Given the description of an element on the screen output the (x, y) to click on. 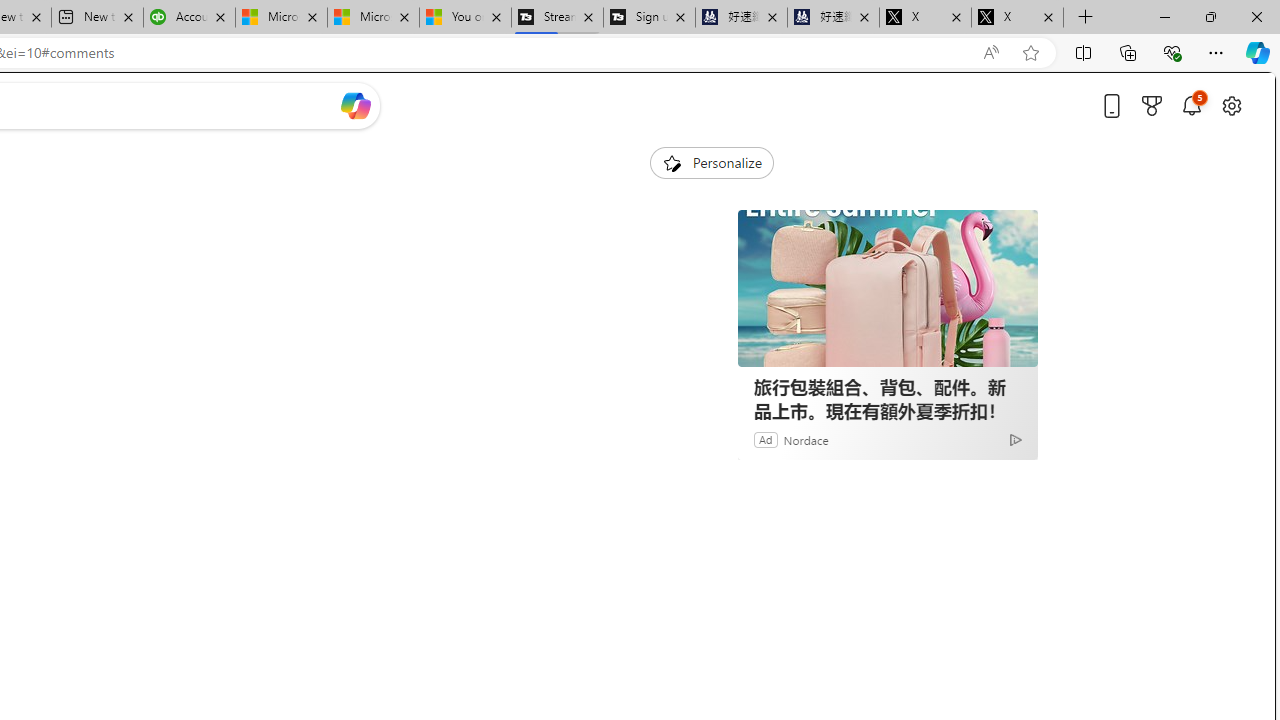
Streaming Coverage | T3 (557, 17)
Microsoft rewards (1151, 105)
Notifications (1192, 105)
